Given the description of an element on the screen output the (x, y) to click on. 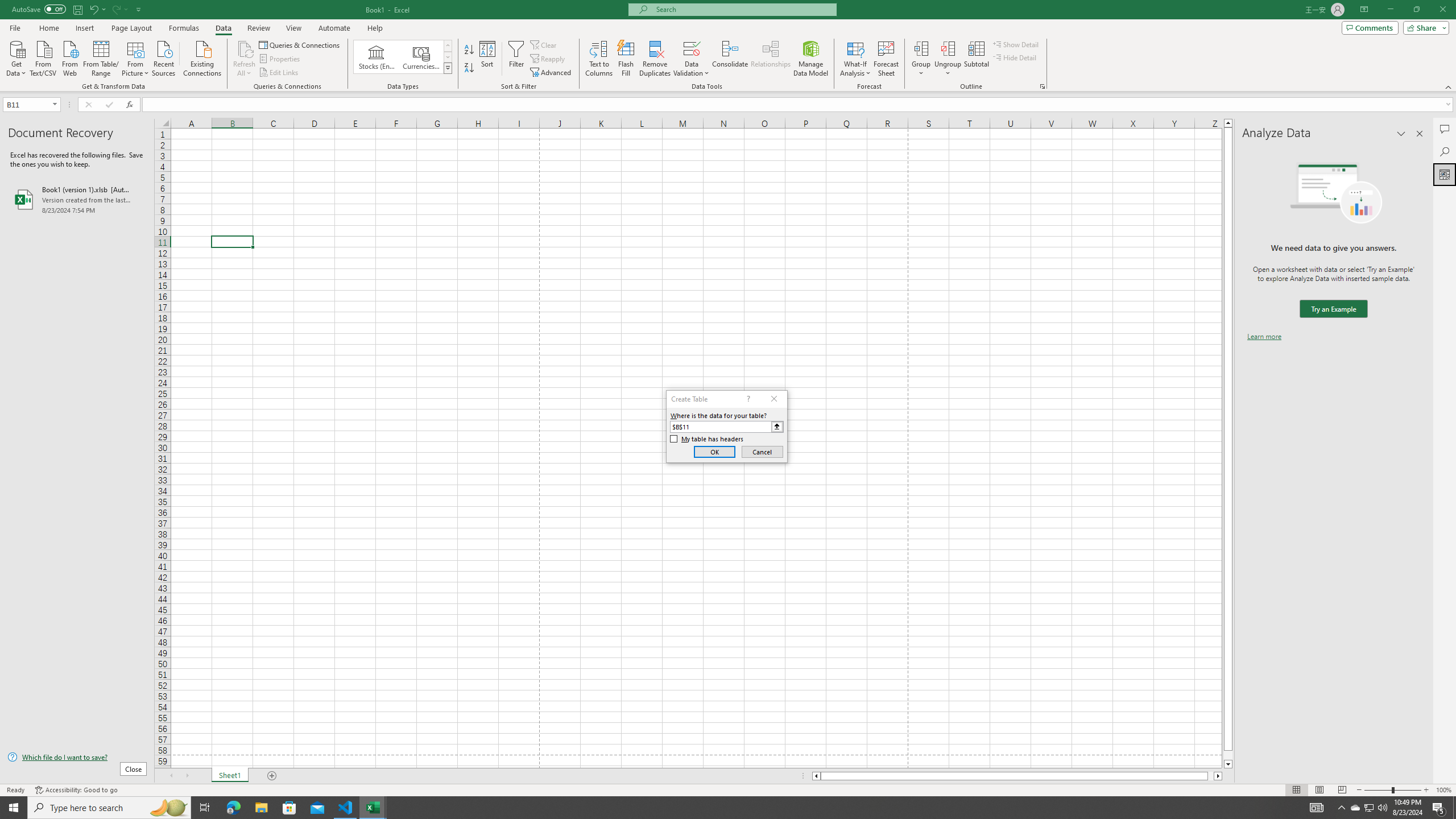
Learn more (1264, 336)
What-If Analysis (855, 58)
Sort A to Z (469, 49)
Advanced... (551, 72)
AutomationID: ConvertToLinkedEntity (403, 56)
Data Types (448, 67)
Flash Fill (625, 58)
